Given the description of an element on the screen output the (x, y) to click on. 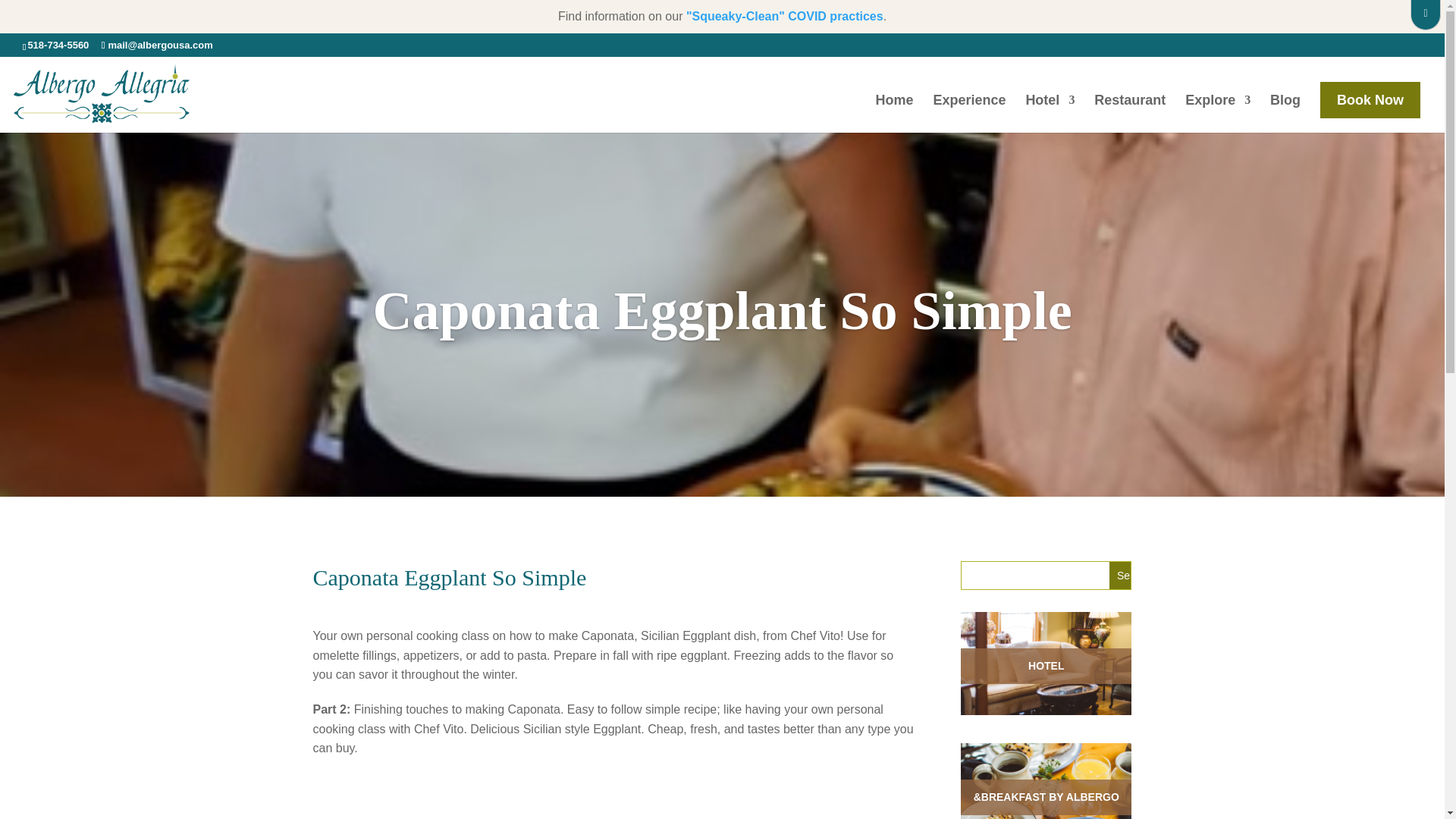
Explore (1217, 112)
Home (895, 112)
Albergo Allegria (784, 15)
518-734-5560 (57, 44)
Search (1133, 574)
Search (1133, 574)
Hotel (1049, 112)
Experience (969, 112)
Book Now (1370, 99)
